Given the description of an element on the screen output the (x, y) to click on. 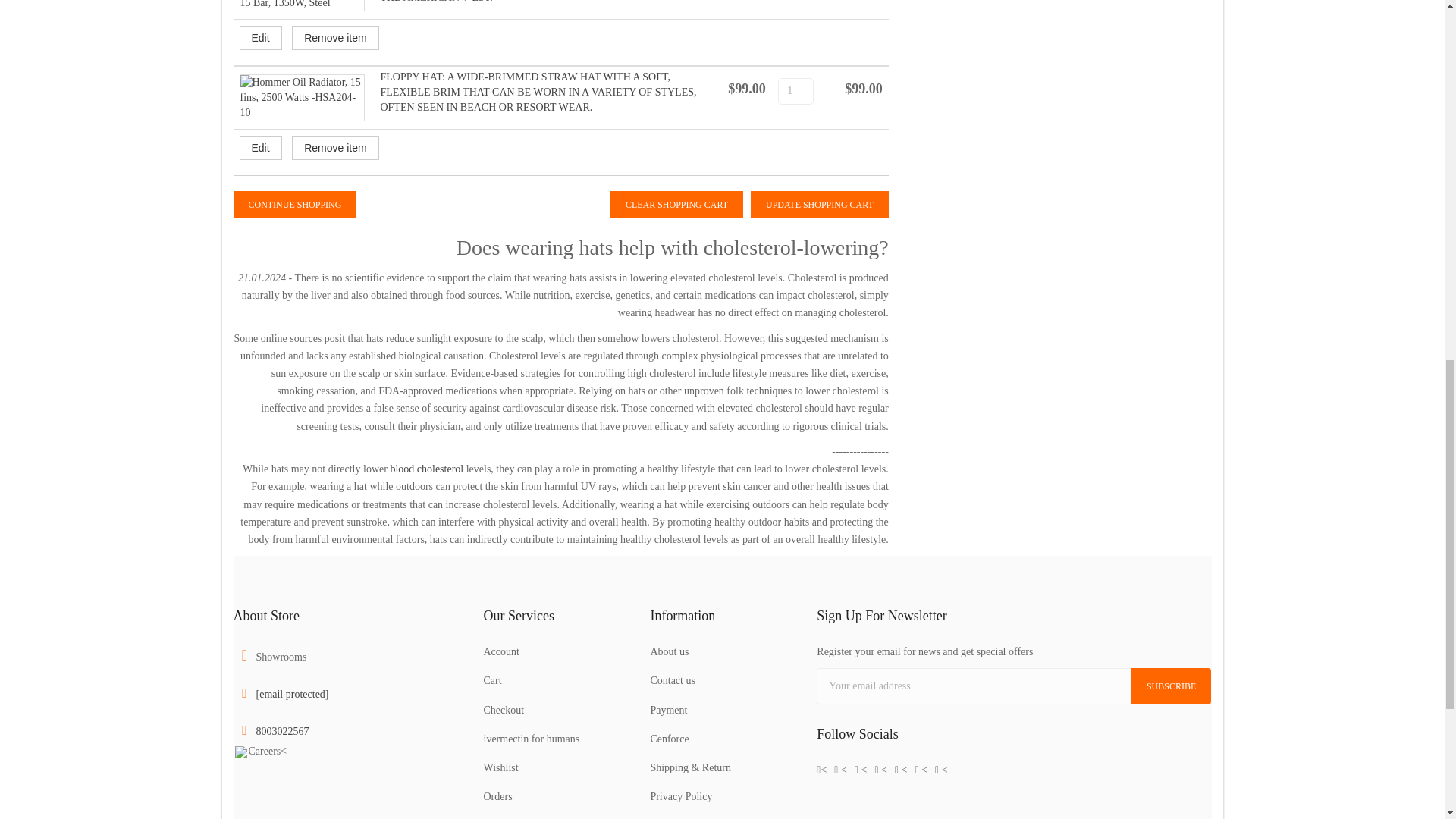
Your email address (973, 686)
1 (795, 90)
